Given the description of an element on the screen output the (x, y) to click on. 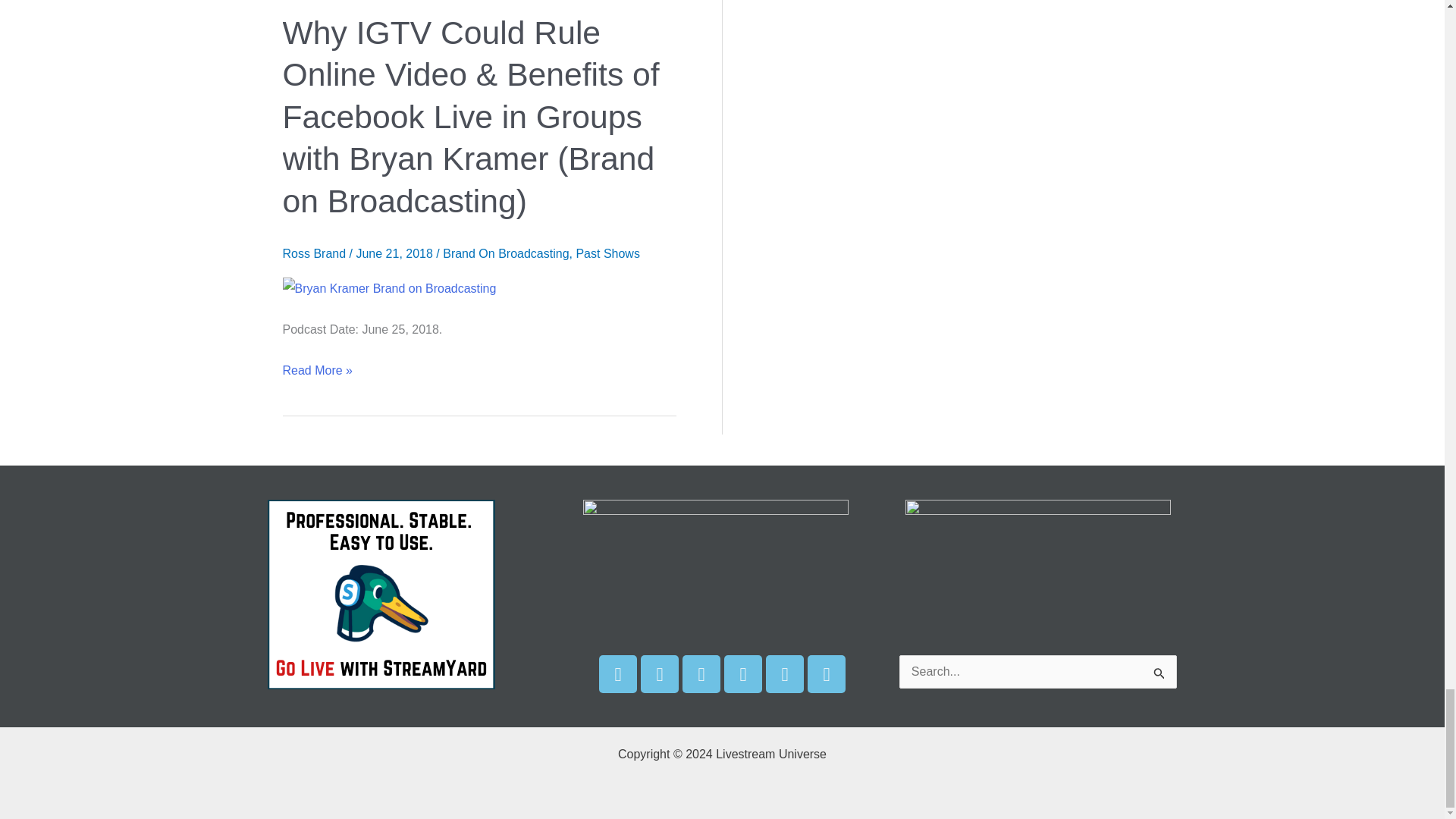
View all posts by Ross Brand (315, 253)
